Given the description of an element on the screen output the (x, y) to click on. 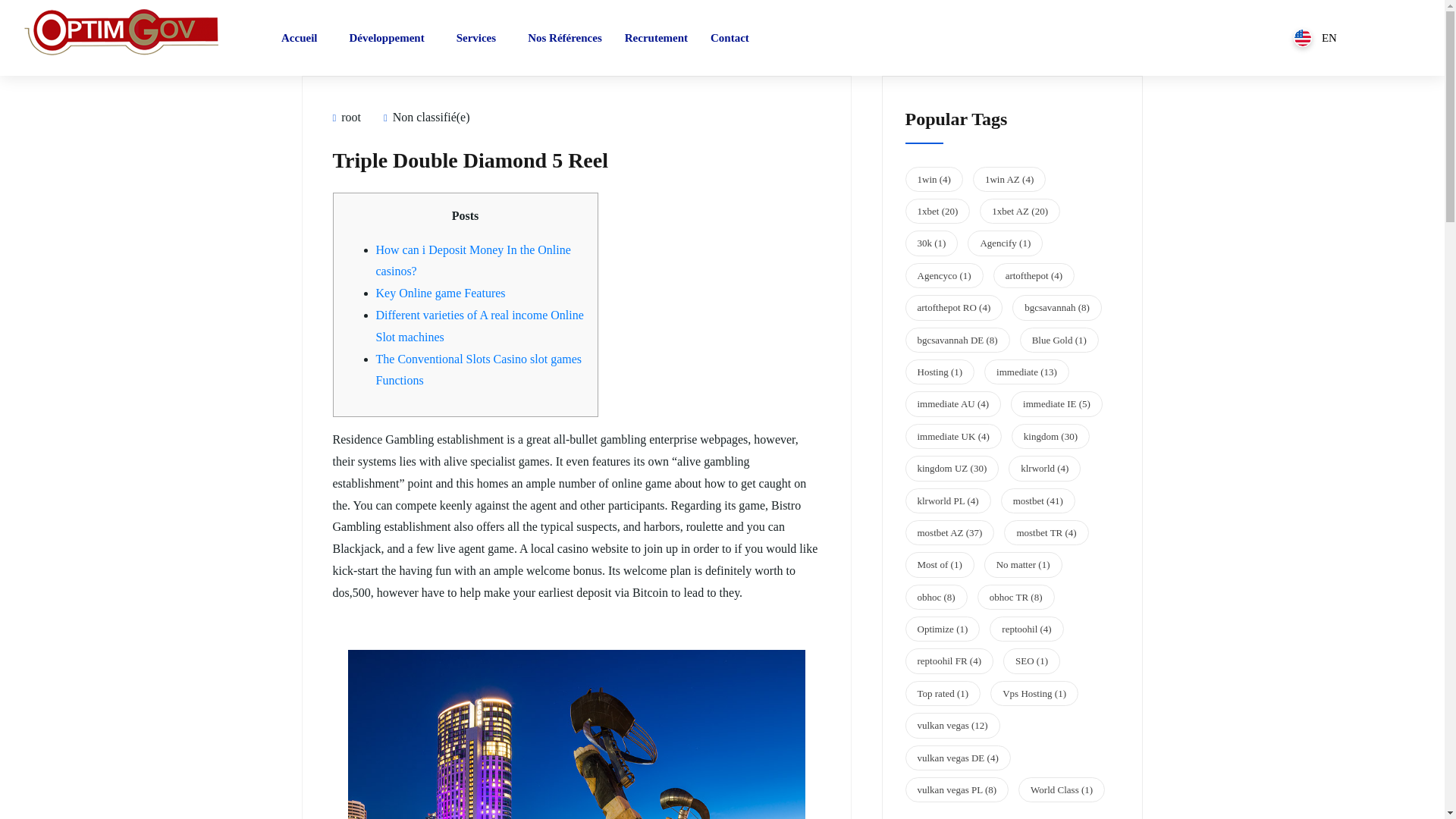
Different varieties of A real income Online Slot machines (479, 325)
root (346, 116)
Key Online game Features (440, 292)
The Conventional Slots Casino slot games Functions (478, 369)
How can i Deposit Money In the Online casinos? (472, 260)
EN (1315, 37)
